Given the description of an element on the screen output the (x, y) to click on. 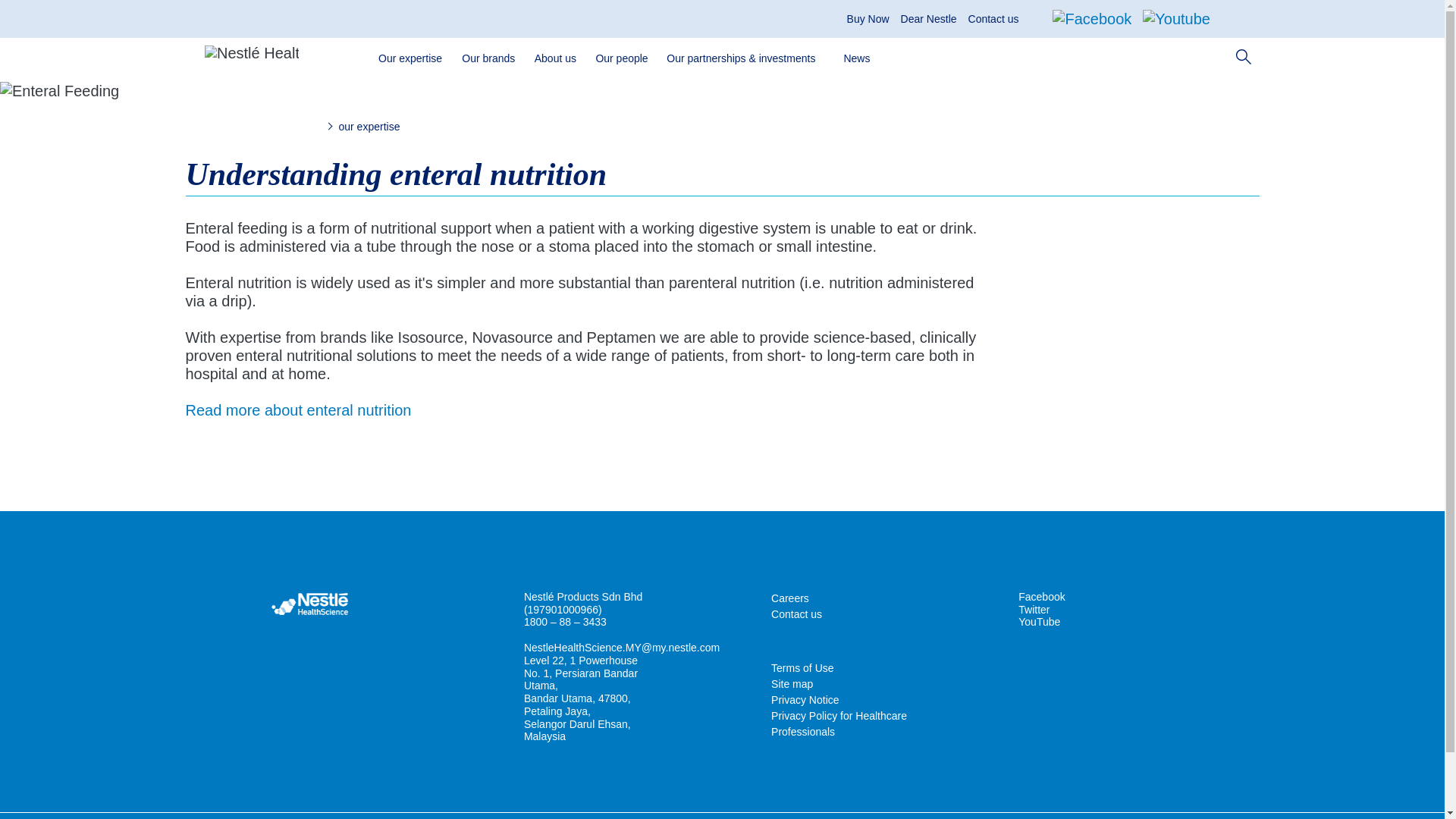
Facebook (1091, 18)
Dear Nestle (928, 19)
Our people (623, 58)
About us (557, 58)
Contact us (993, 19)
Youtube (1175, 18)
Our expertise (412, 58)
Buy Now (868, 19)
Our brands (489, 58)
